Given the description of an element on the screen output the (x, y) to click on. 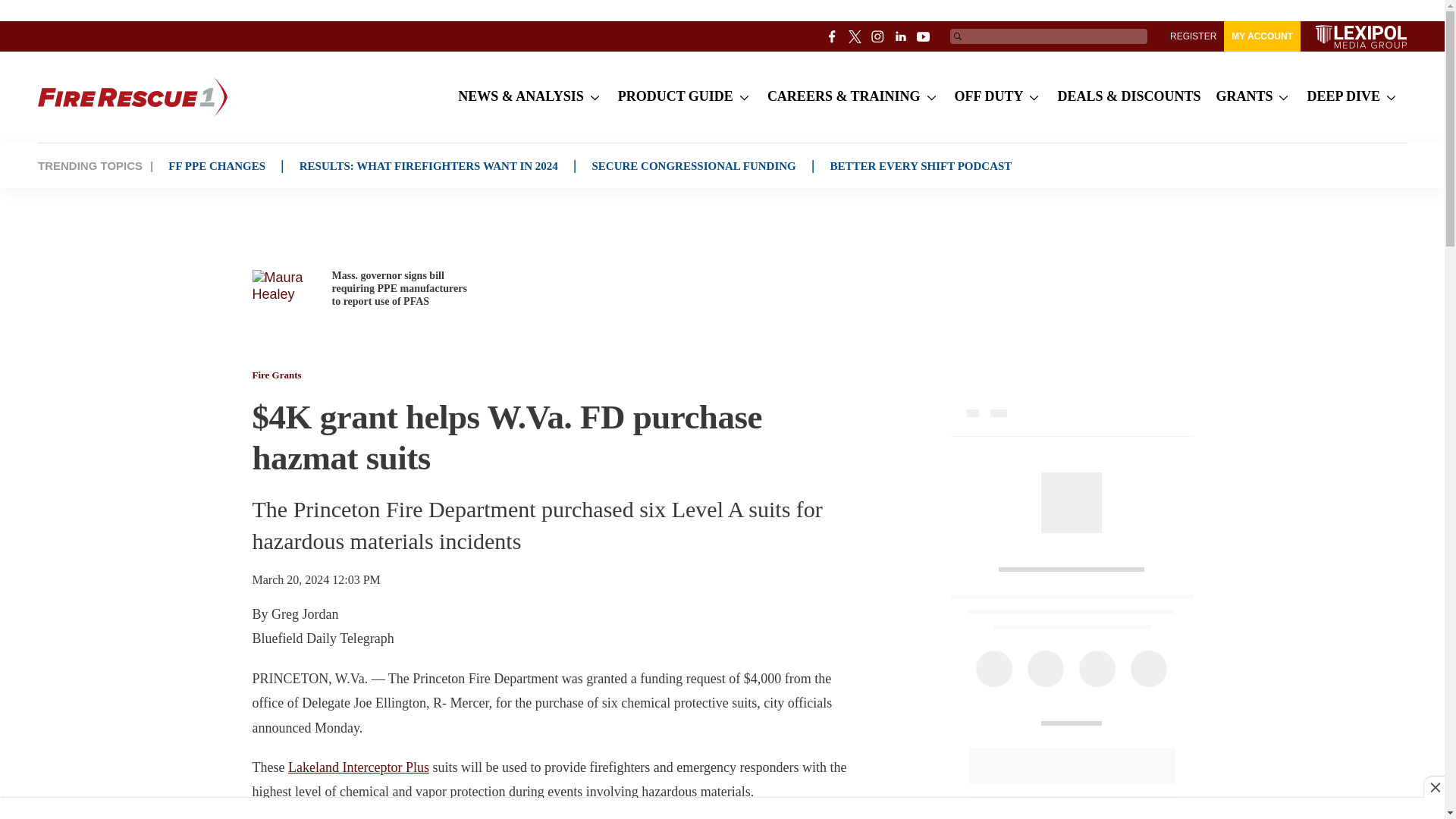
REGISTER (1192, 36)
linkedin (900, 36)
MY ACCOUNT (1262, 36)
instagram (877, 36)
facebook (832, 36)
twitter (855, 36)
youtube (923, 36)
